Given the description of an element on the screen output the (x, y) to click on. 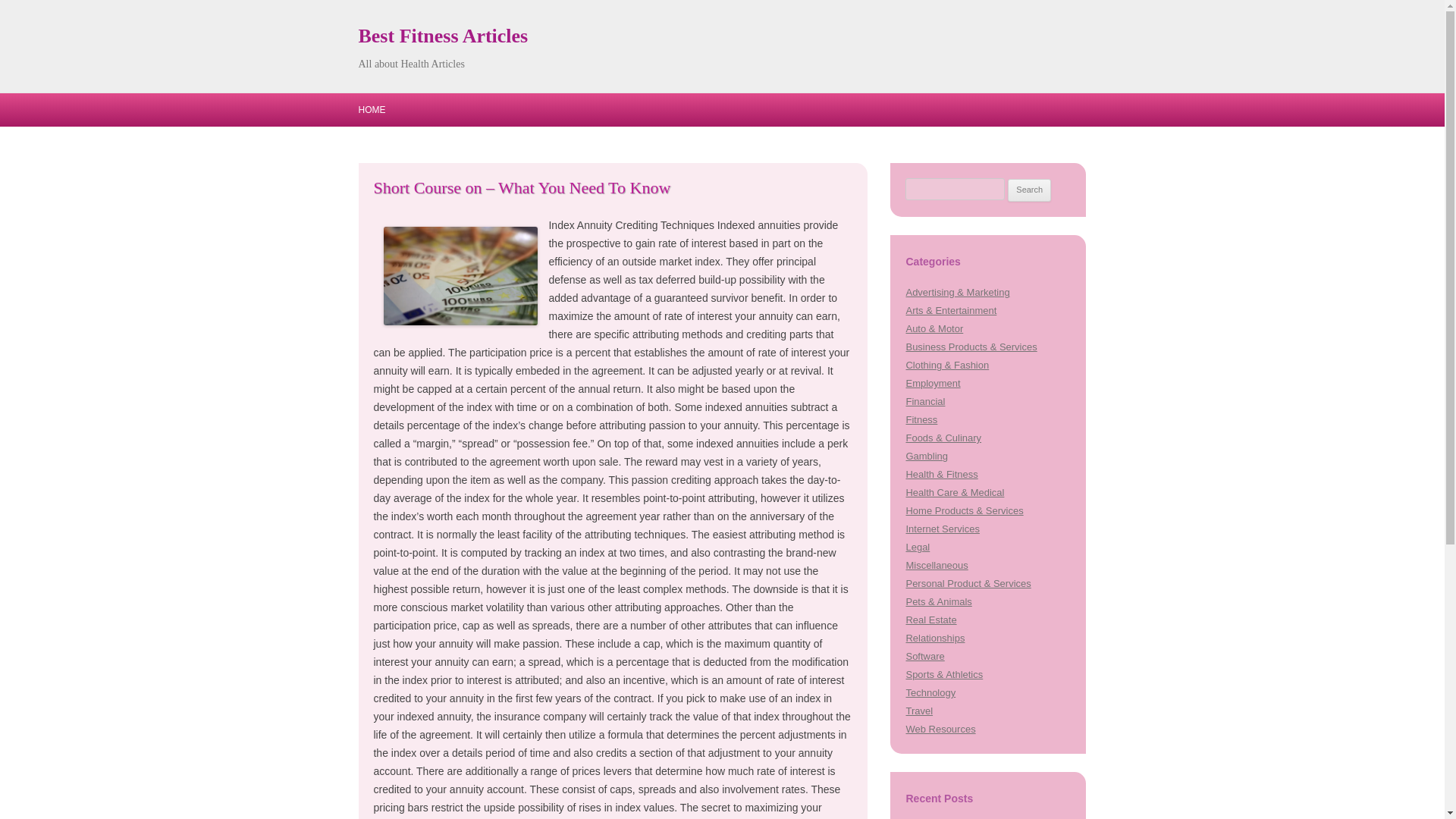
Search (1029, 190)
Employment (932, 383)
Legal (917, 546)
Software (924, 655)
Travel (919, 710)
Fitness (921, 419)
Best Fitness Articles (442, 36)
Miscellaneous (936, 564)
Best Fitness Articles (442, 36)
Web Resources (940, 728)
Search (1029, 190)
Technology (930, 692)
Gambling (926, 455)
Real Estate (930, 619)
